Given the description of an element on the screen output the (x, y) to click on. 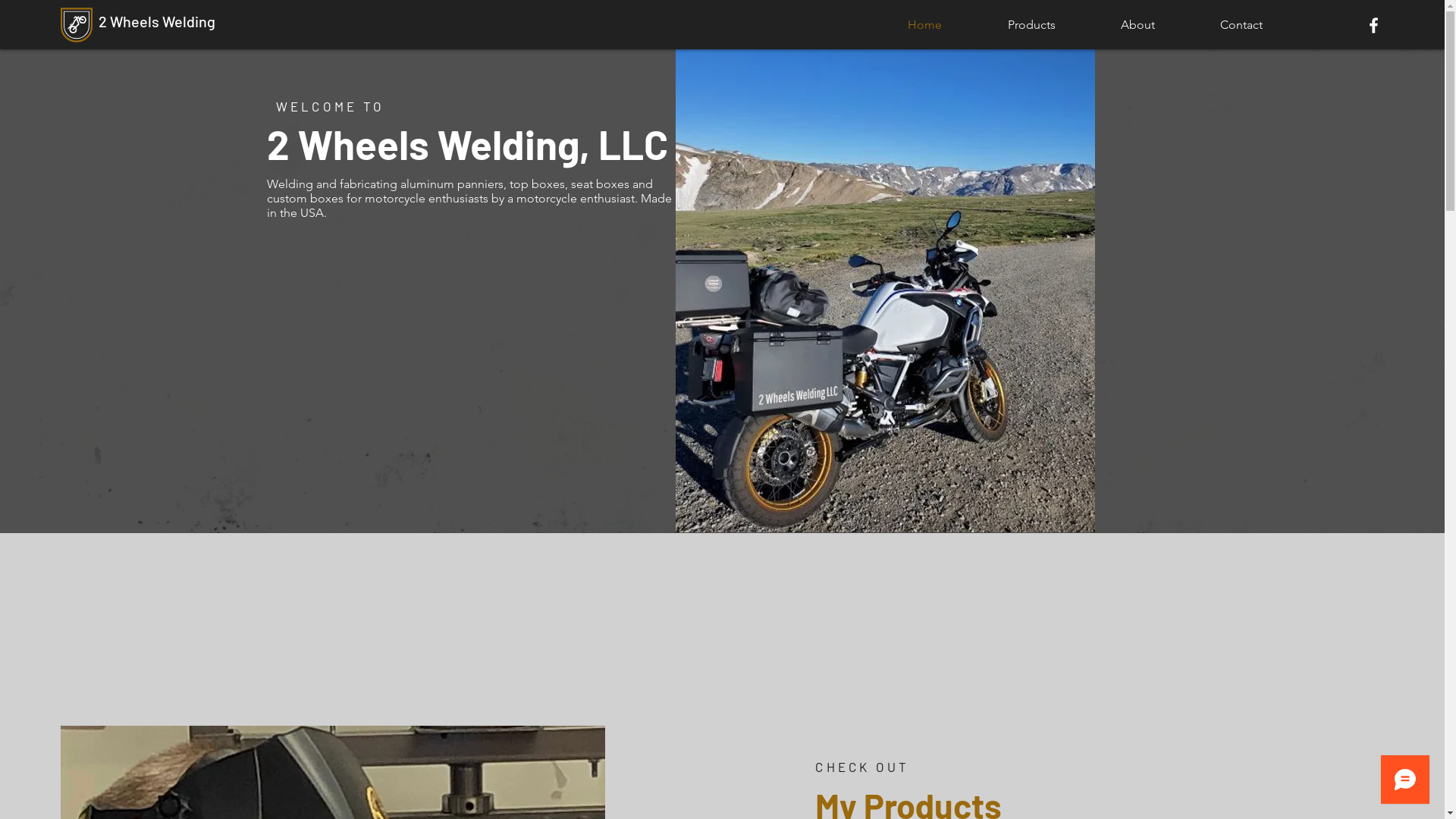
Bear tooth r1250.jpg Element type: hover (884, 290)
2 Wheels Welding Element type: text (156, 21)
Home Element type: text (924, 24)
About Element type: text (1137, 24)
Contact Element type: text (1241, 24)
Products Element type: text (1031, 24)
